Given the description of an element on the screen output the (x, y) to click on. 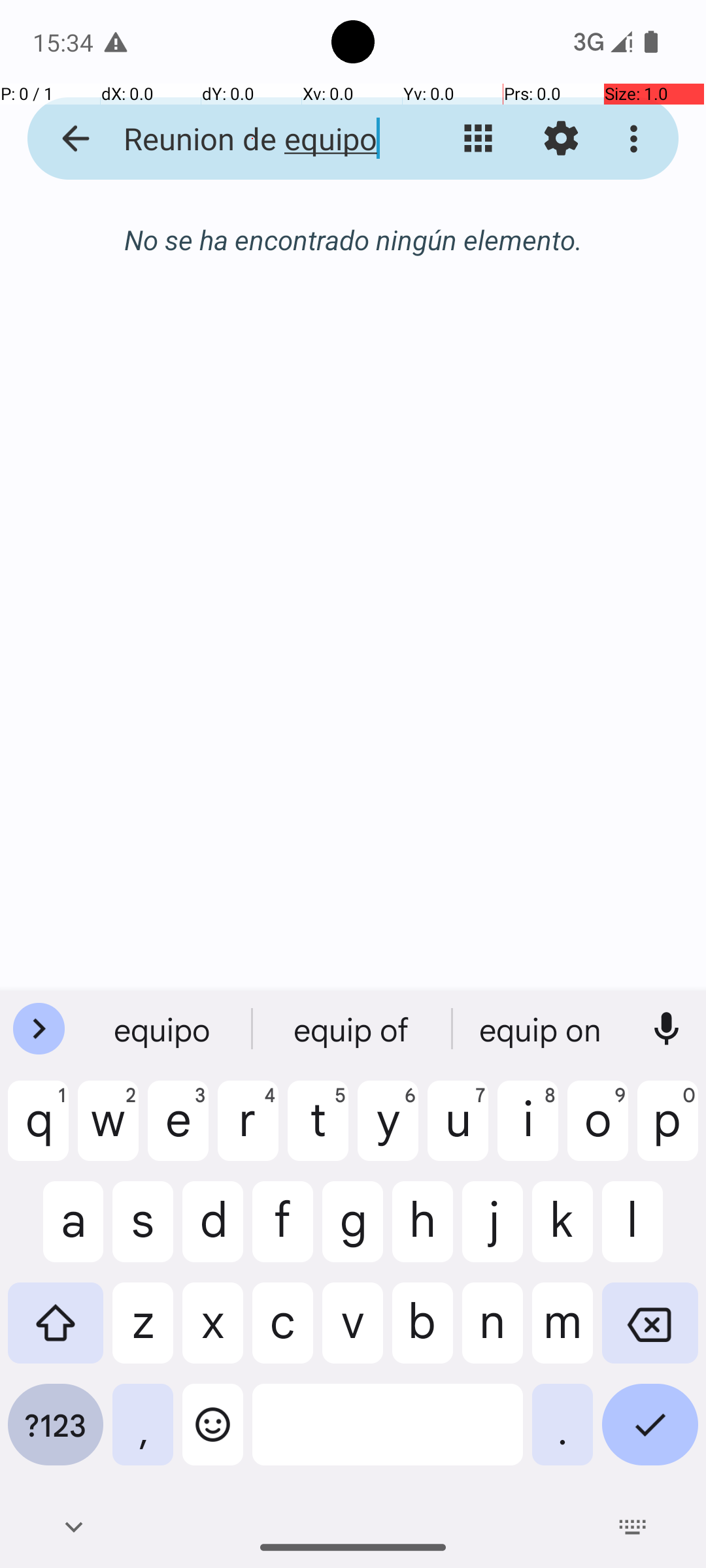
Reunion de equipo Element type: android.widget.EditText (252, 138)
No se ha encontrado ningún elemento. Element type: android.widget.TextView (353, 239)
equip Element type: android.widget.FrameLayout (163, 1028)
equipo Element type: android.widget.FrameLayout (352, 1028)
equipment Element type: android.widget.FrameLayout (541, 1028)
